Given the description of an element on the screen output the (x, y) to click on. 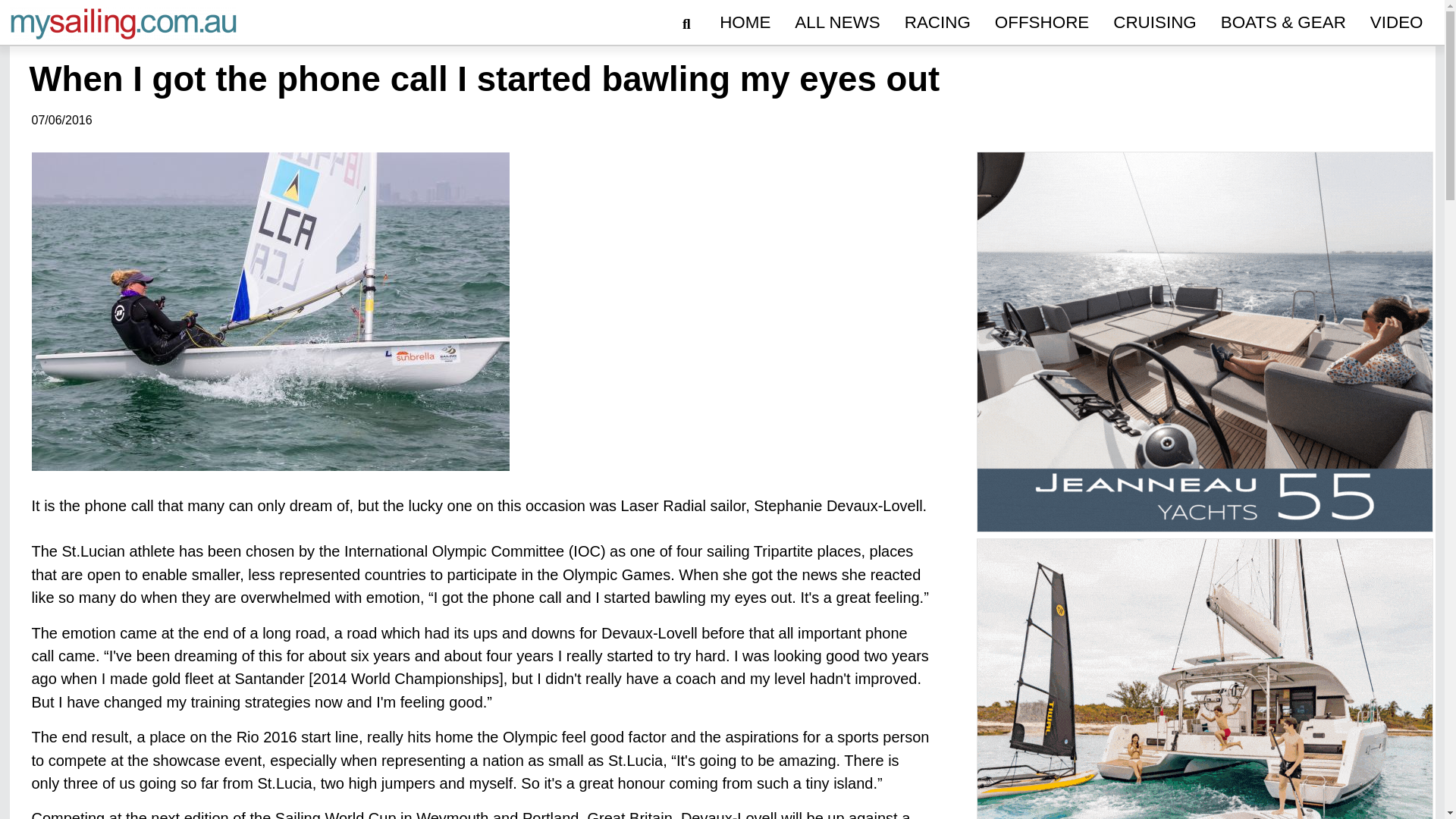
Video (1396, 22)
ALL NEWS (837, 22)
Racing (937, 22)
Offshore (1041, 22)
RACING (937, 22)
CRUISING (1154, 22)
OFFSHORE (1041, 22)
HOME (744, 22)
VIDEO (1396, 22)
Home (744, 22)
All News (837, 22)
Cruising (1154, 22)
